Given the description of an element on the screen output the (x, y) to click on. 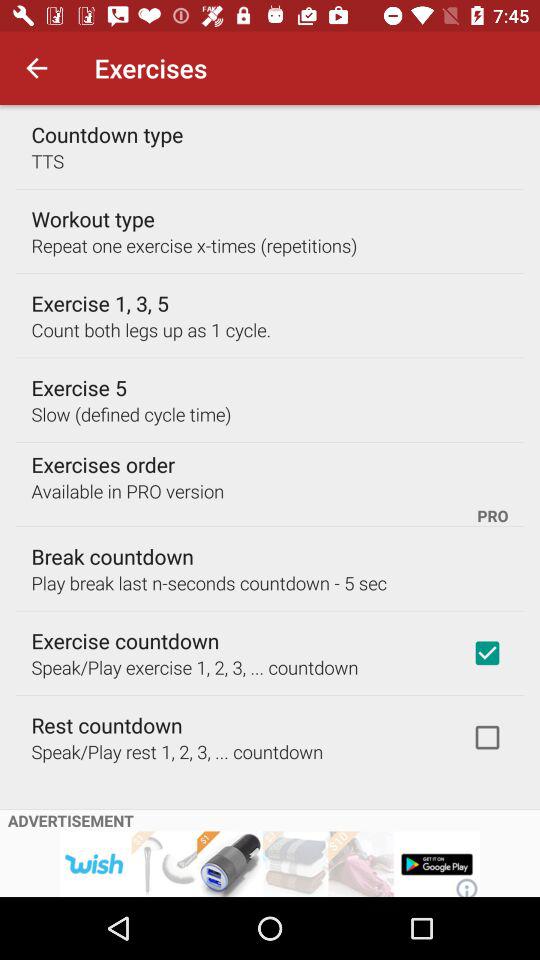
go back (210, 64)
